Given the description of an element on the screen output the (x, y) to click on. 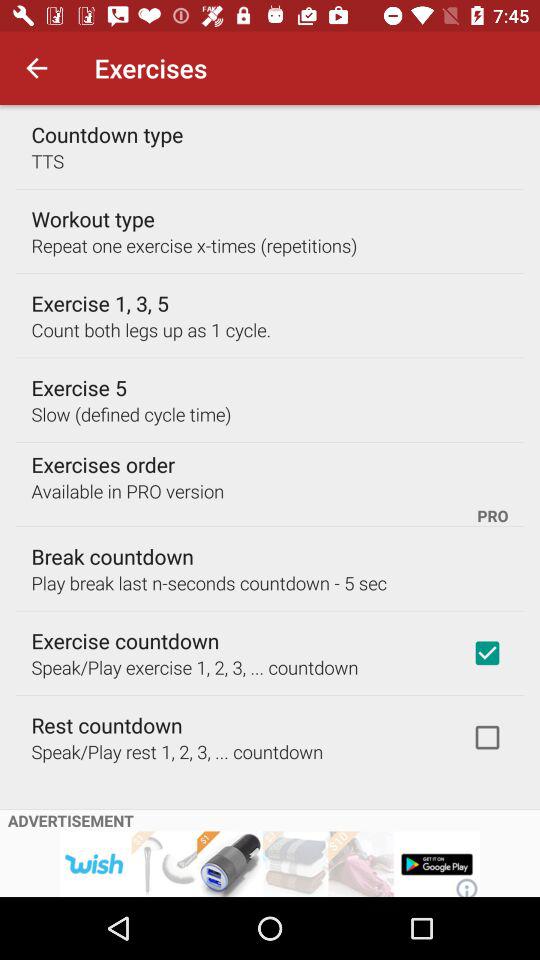
go back (210, 64)
